Given the description of an element on the screen output the (x, y) to click on. 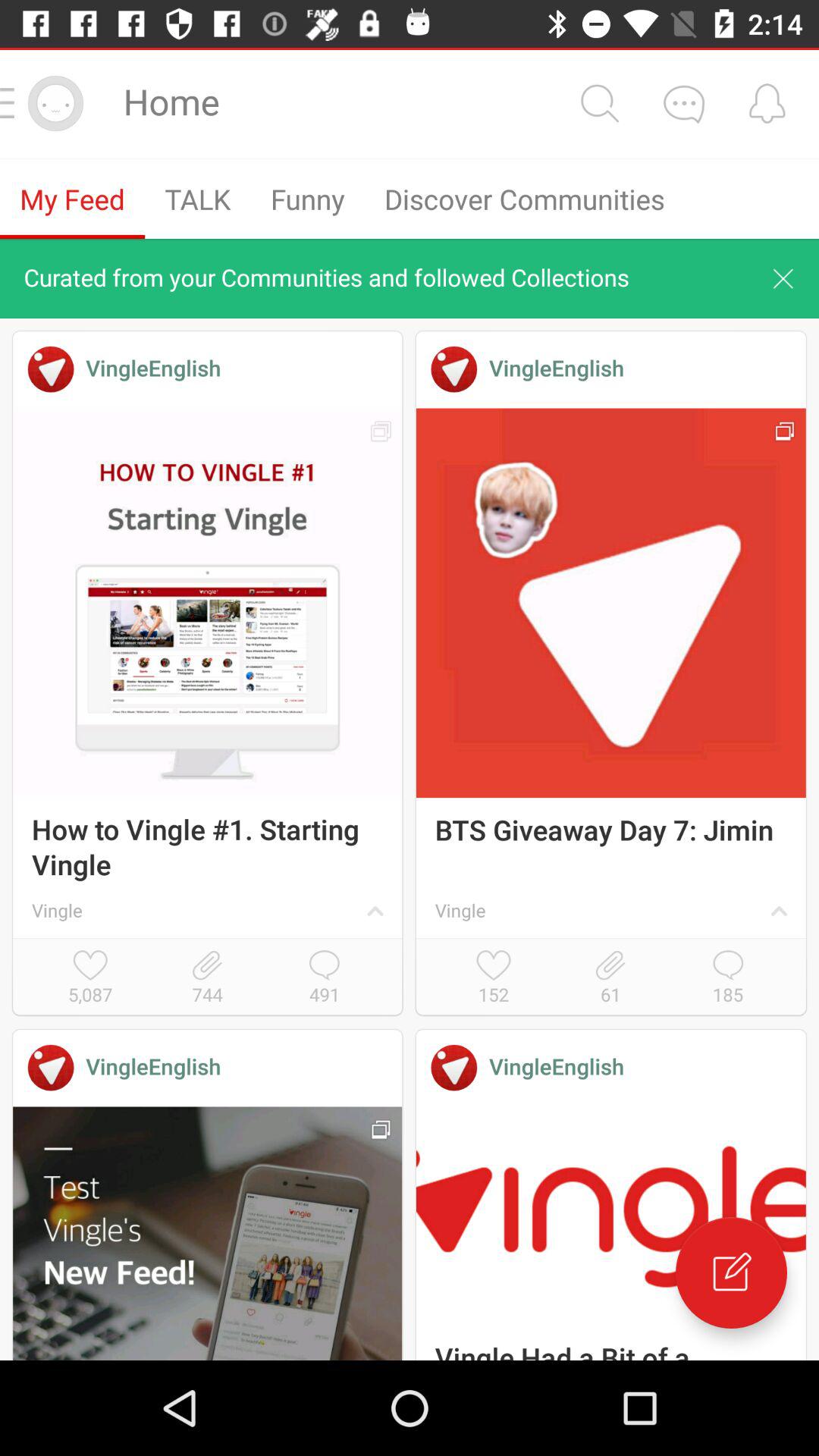
choose icon next to the 61 item (728, 978)
